Given the description of an element on the screen output the (x, y) to click on. 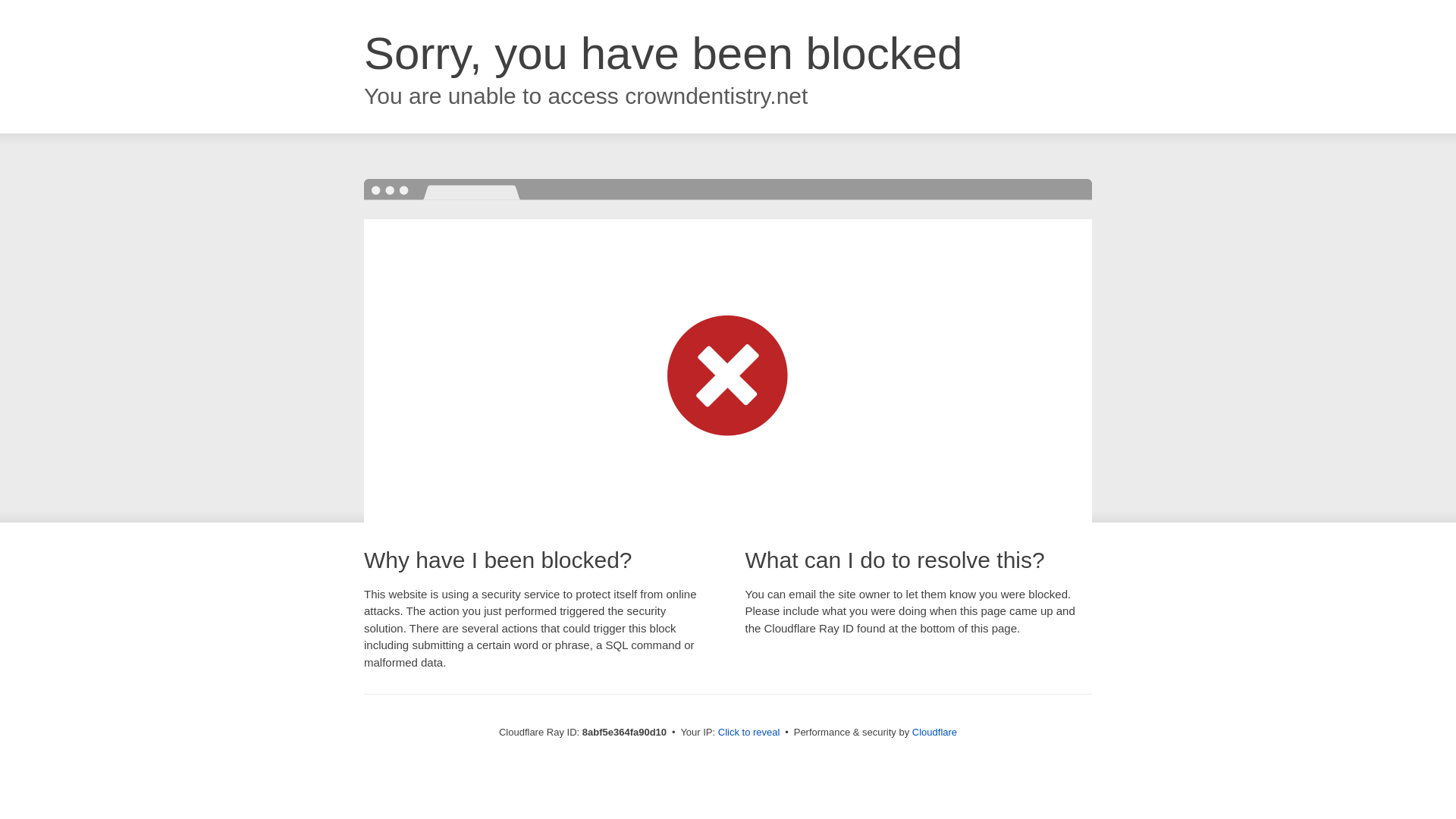
Click to reveal (748, 732)
Cloudflare (934, 731)
